Given the description of an element on the screen output the (x, y) to click on. 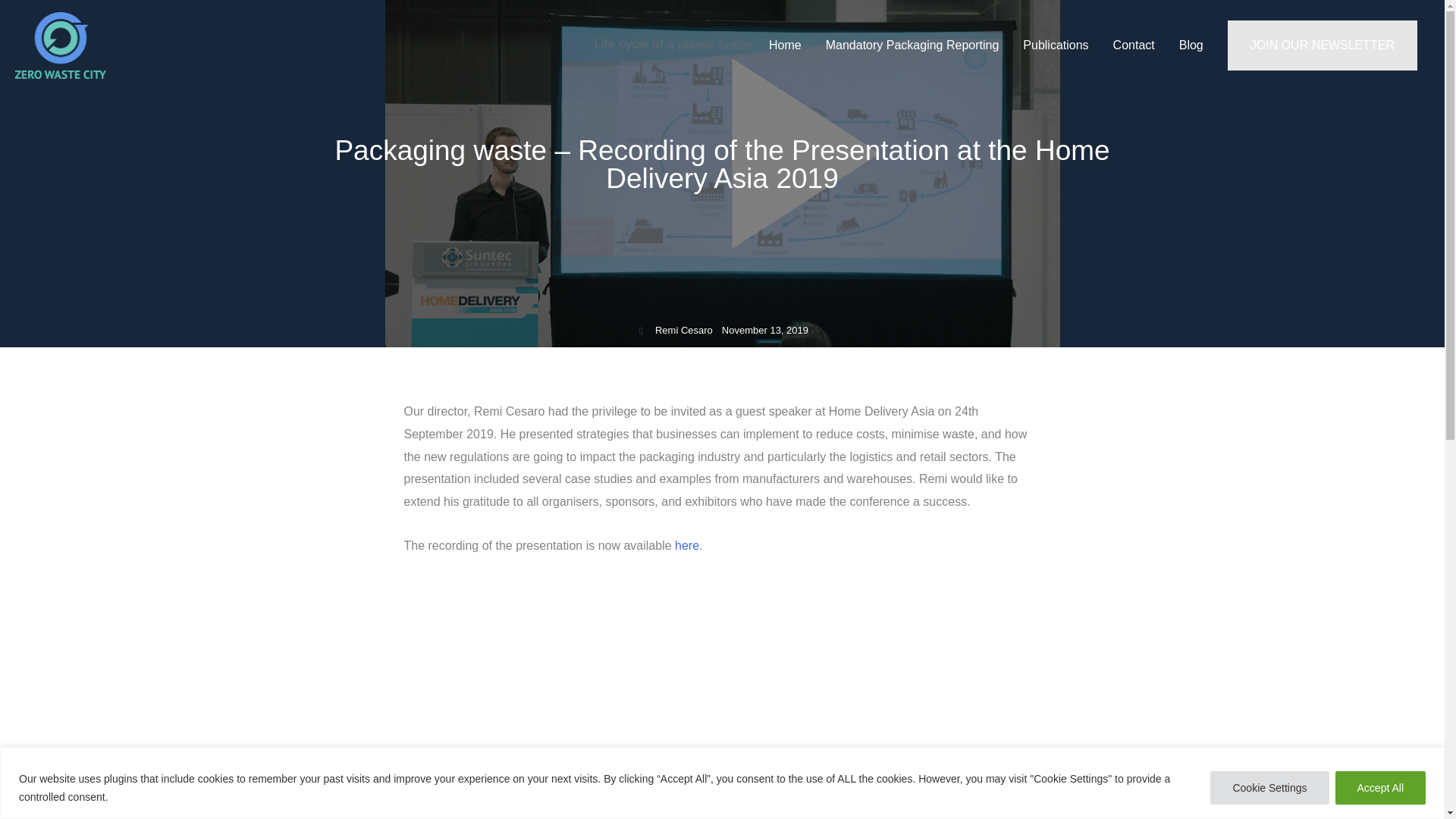
JOIN OUR NEWSLETTER (1321, 45)
Cookie Settings (1268, 786)
Mandatory Packaging Reporting (912, 45)
Blog (1191, 45)
Remi Cesaro (674, 330)
Publications (1055, 45)
Home (785, 45)
November 13, 2019 (760, 330)
here (686, 545)
Contact (1133, 45)
